Given the description of an element on the screen output the (x, y) to click on. 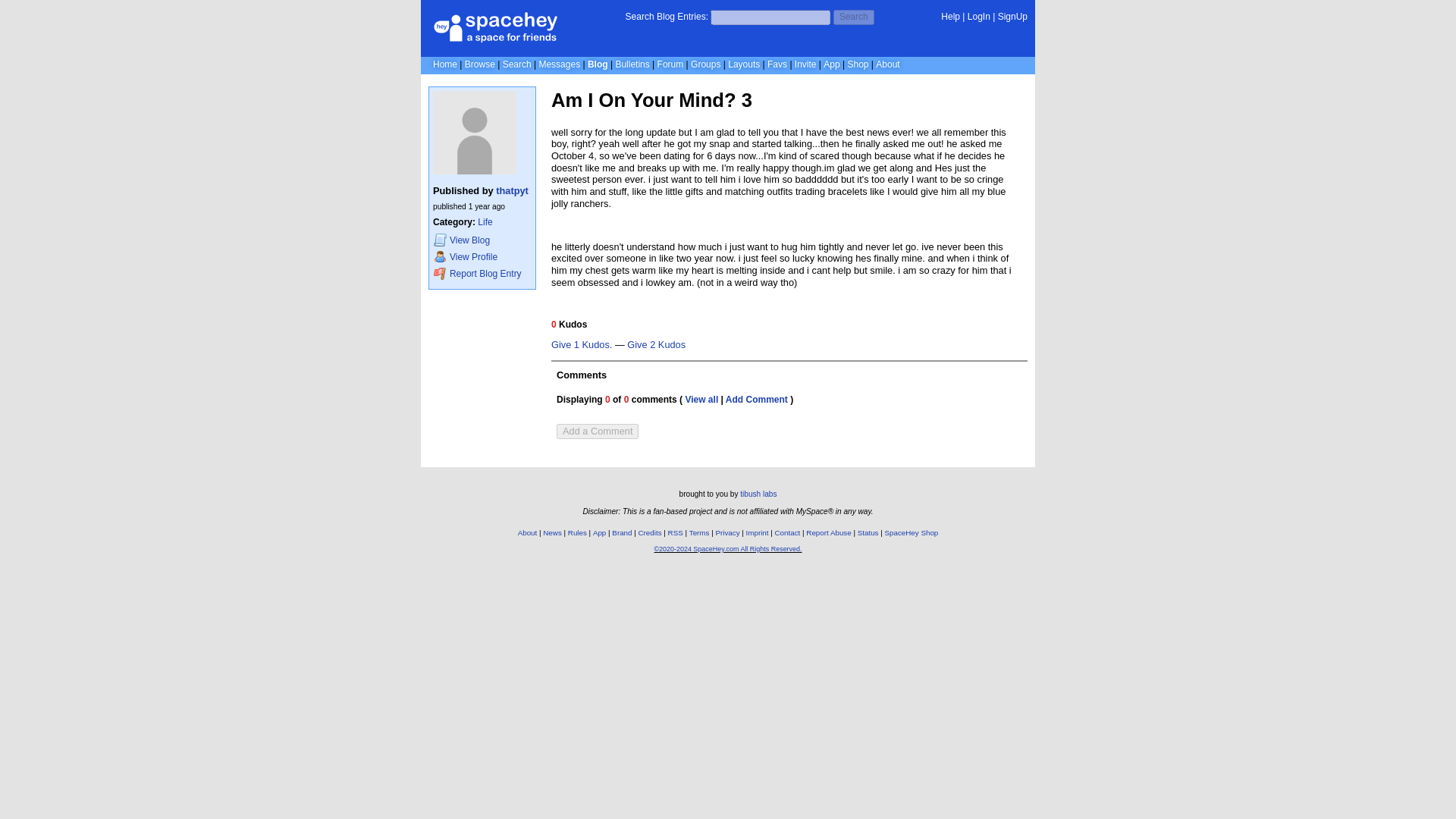
Browse (479, 63)
About (887, 63)
RSS (675, 532)
View Profile (481, 256)
App (832, 63)
Give 1 Kudos. (581, 345)
LogIn (979, 16)
Rules (576, 532)
Messages (558, 63)
News (552, 532)
